Given the description of an element on the screen output the (x, y) to click on. 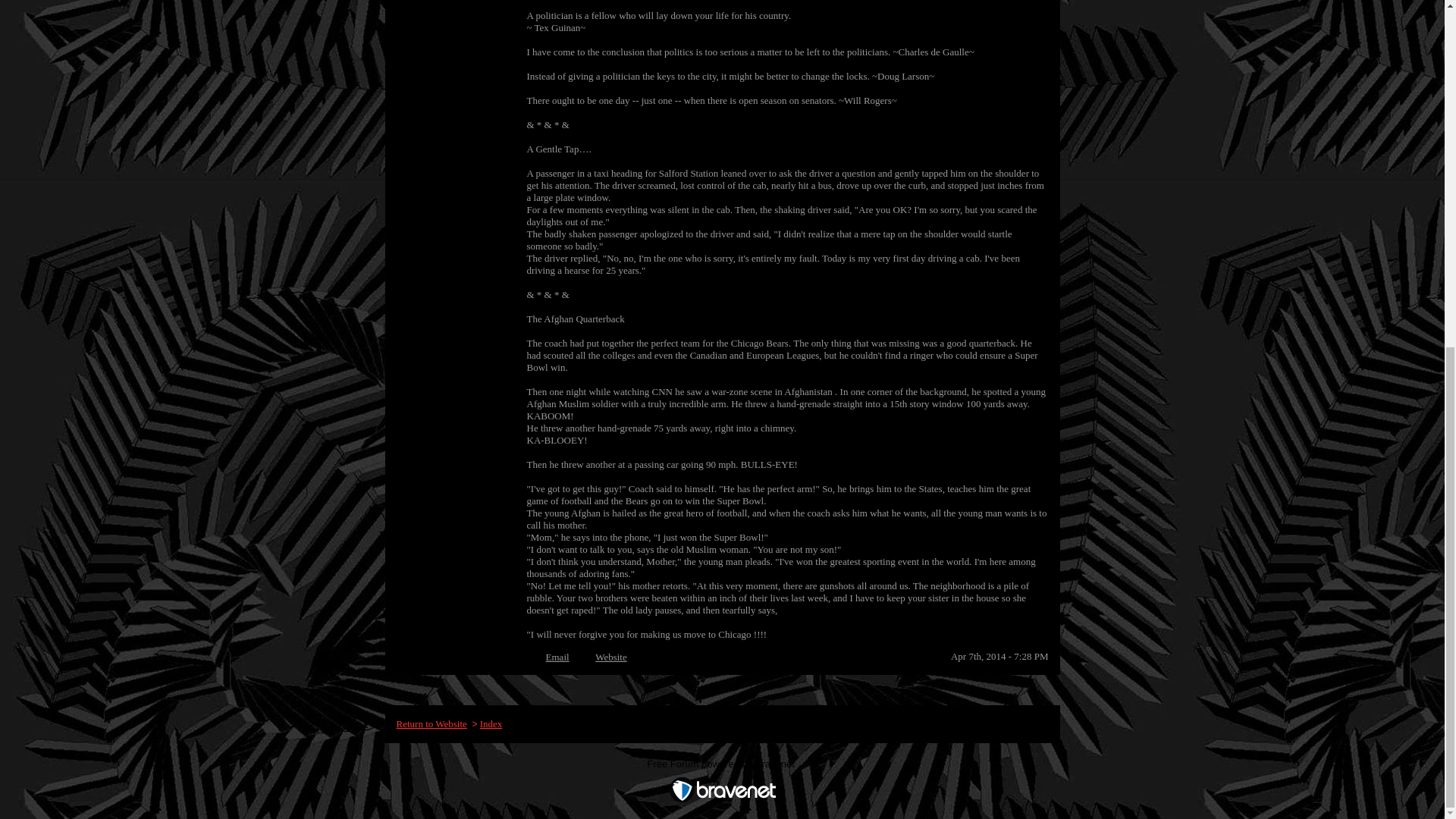
Return to Website (430, 723)
Website (611, 656)
Free Forum powered by Bravenet  (722, 767)
Email (557, 656)
Index (491, 723)
